Given the description of an element on the screen output the (x, y) to click on. 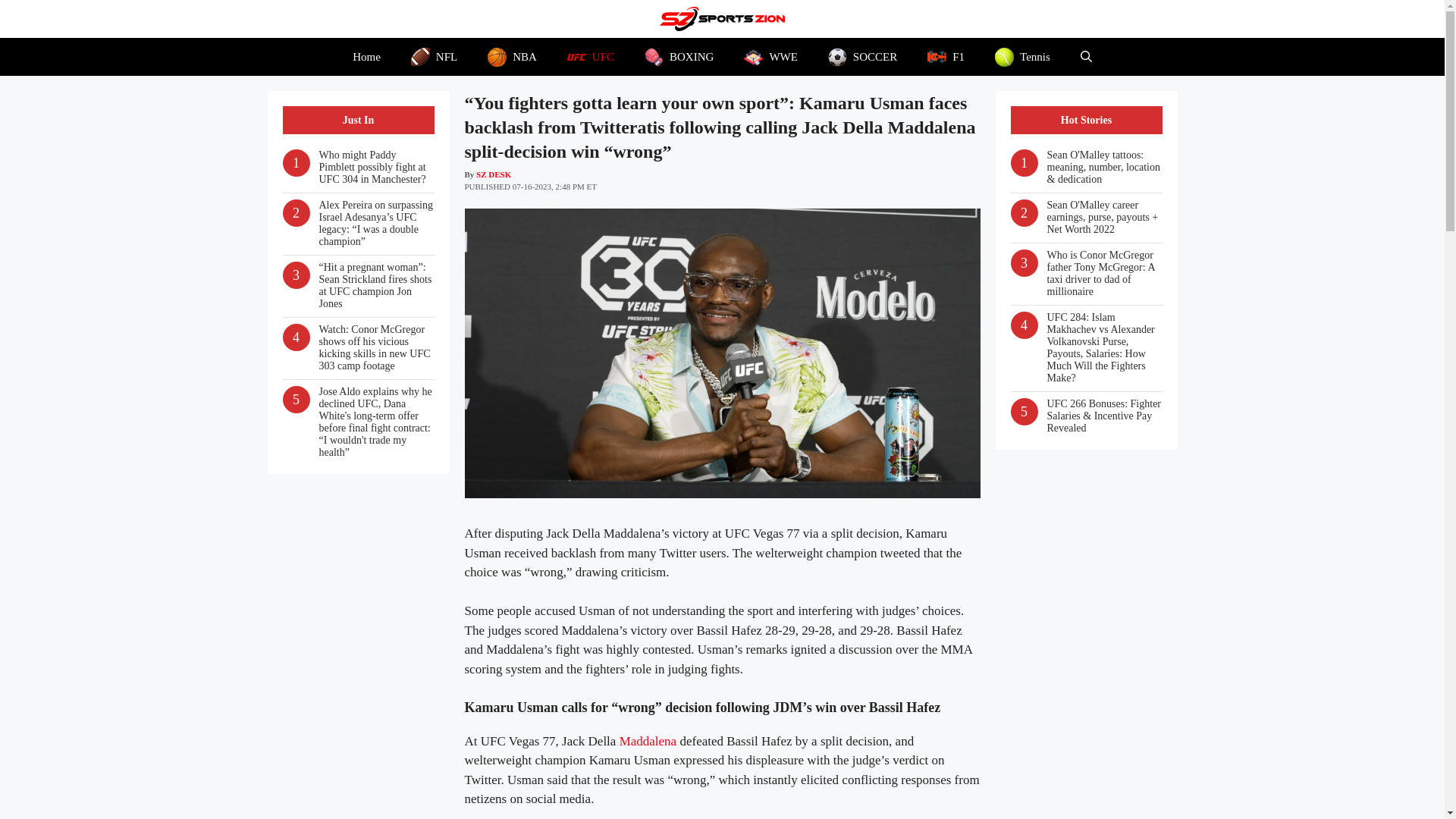
UFC (589, 56)
NBA (511, 56)
BOXING (678, 56)
WWE (770, 56)
View all posts by SZ Desk (493, 174)
NFL (433, 56)
Home (366, 56)
F1 (945, 56)
Maddalena (648, 740)
Tennis (1022, 56)
